Given the description of an element on the screen output the (x, y) to click on. 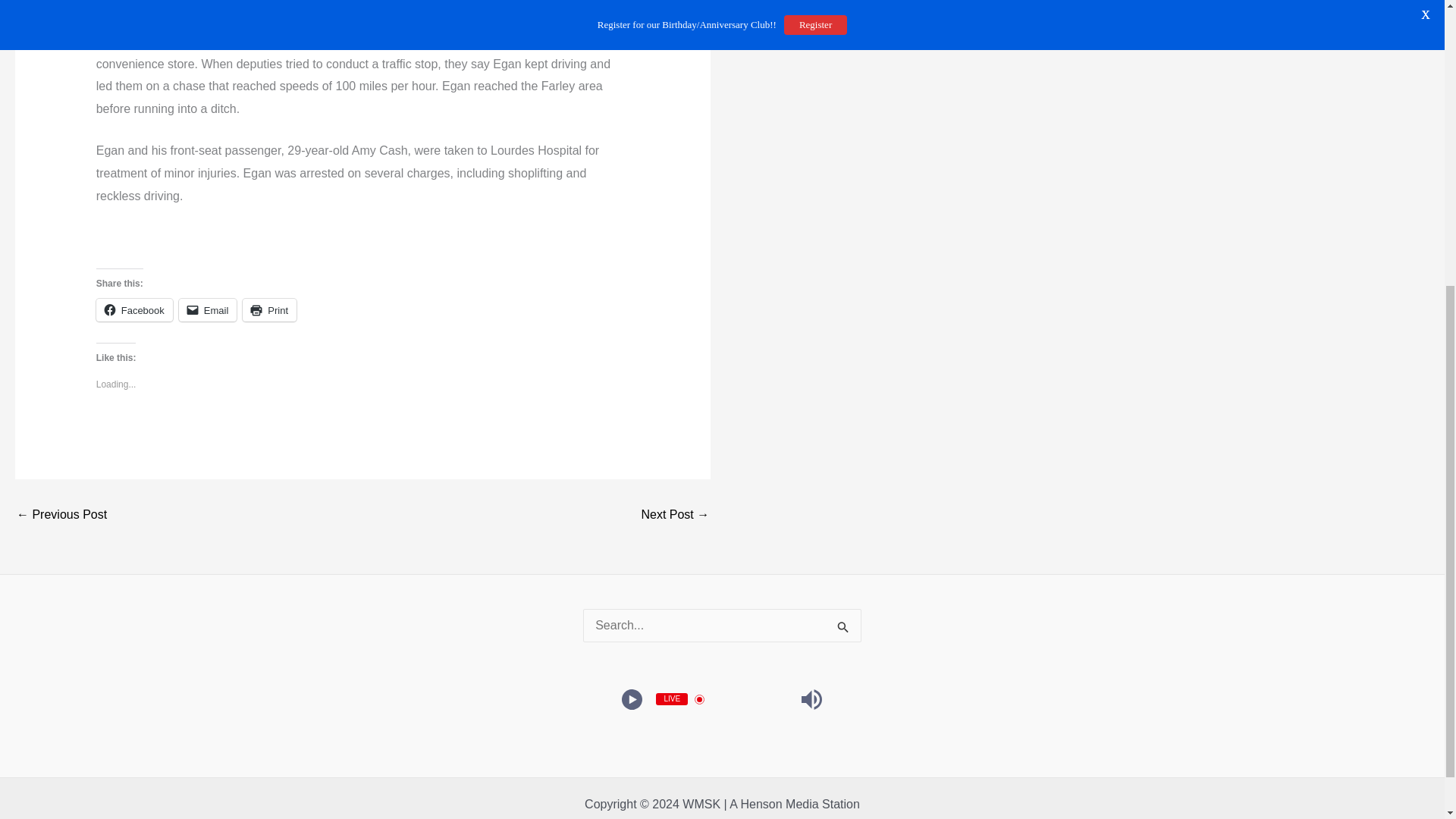
Click to email a link to a friend (208, 309)
Click to print (270, 309)
Play (632, 699)
Science Hill police chief suspended following indictment (61, 514)
Click to share on Facebook (134, 309)
